Given the description of an element on the screen output the (x, y) to click on. 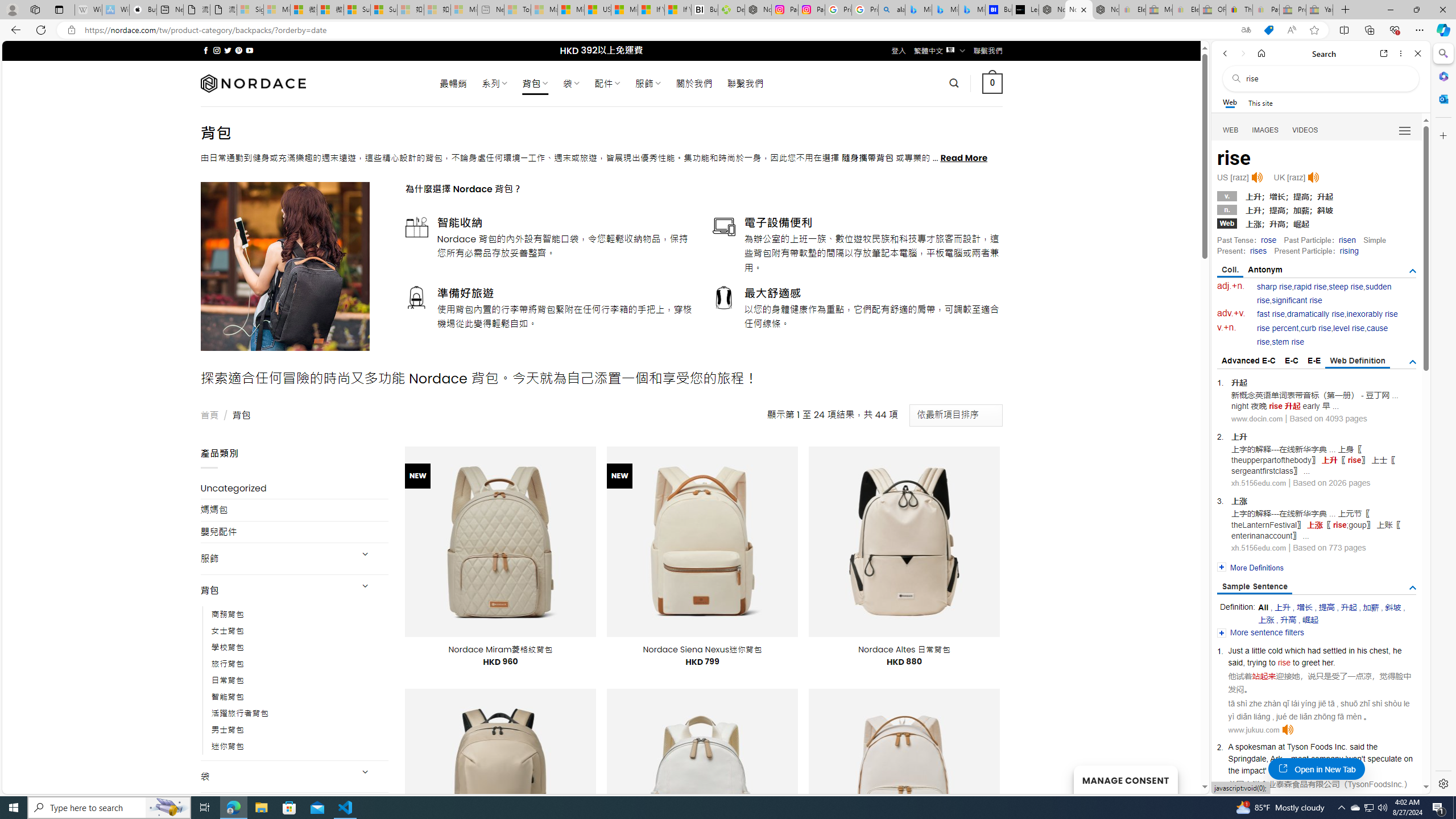
Buy iPad - Apple (143, 9)
Microsoft account | Account Checkup - Sleeping (463, 9)
steep rise (1345, 286)
Show translate options (1245, 29)
Antonym (1265, 269)
Read More (964, 157)
sudden rise (1323, 293)
